Given the description of an element on the screen output the (x, y) to click on. 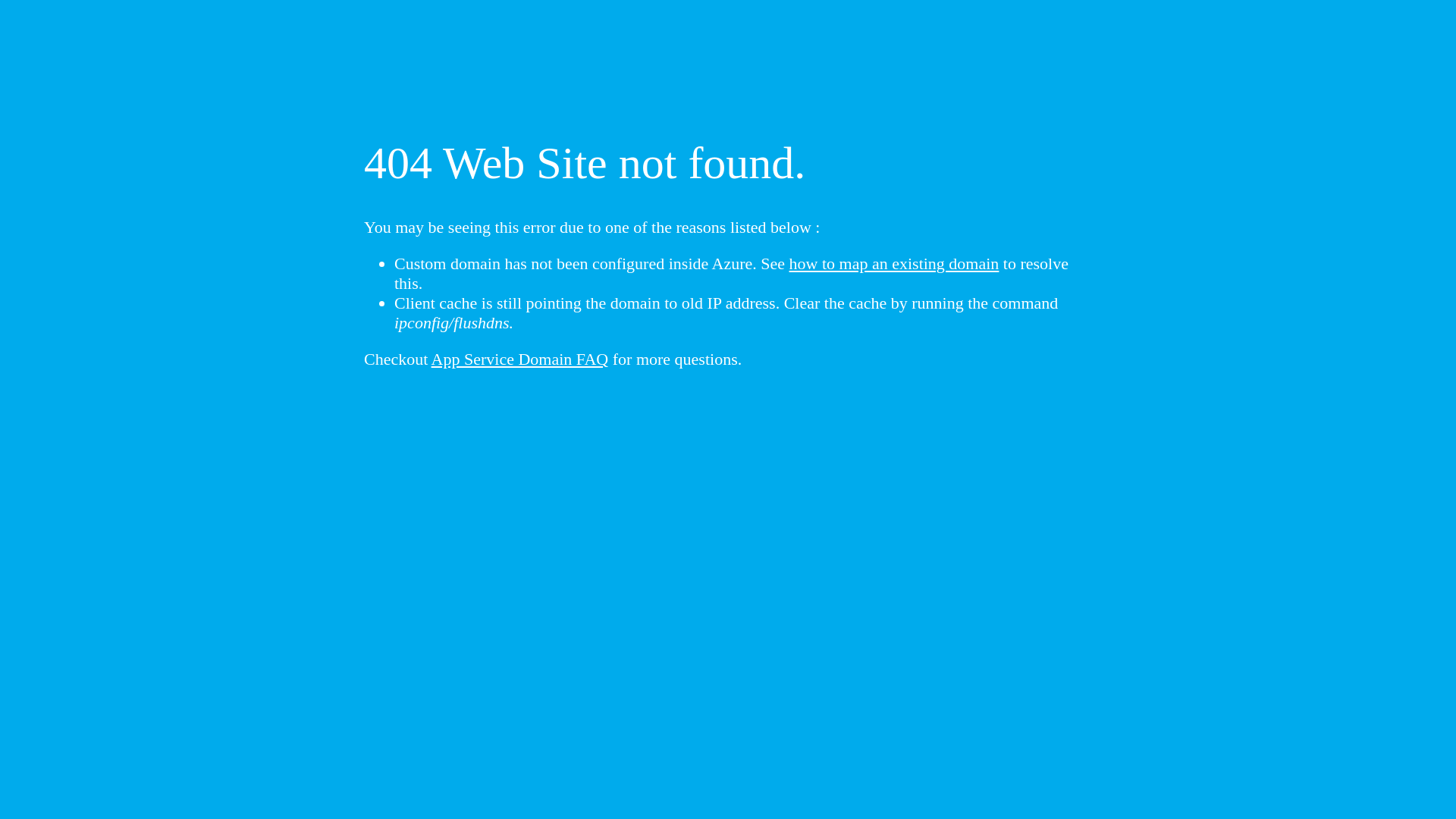
App Service Domain FAQ Element type: text (519, 358)
how to map an existing domain Element type: text (894, 263)
